Given the description of an element on the screen output the (x, y) to click on. 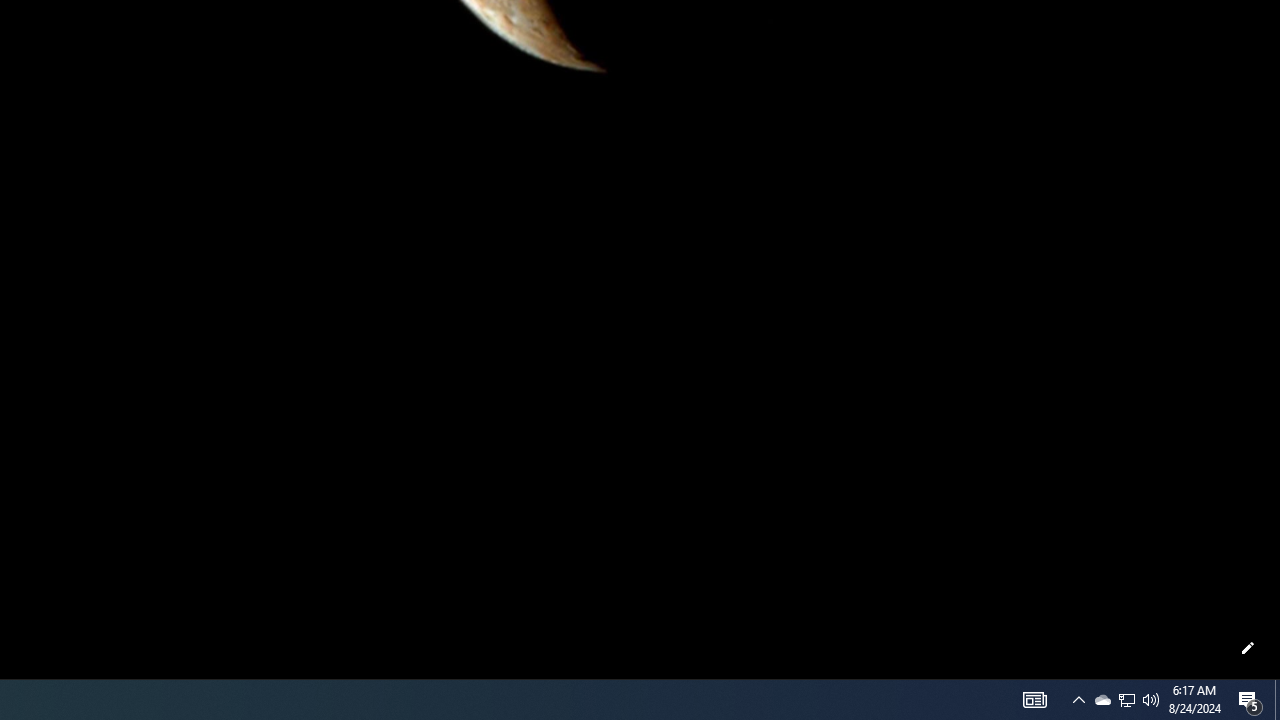
Customize this page (1247, 647)
